Given the description of an element on the screen output the (x, y) to click on. 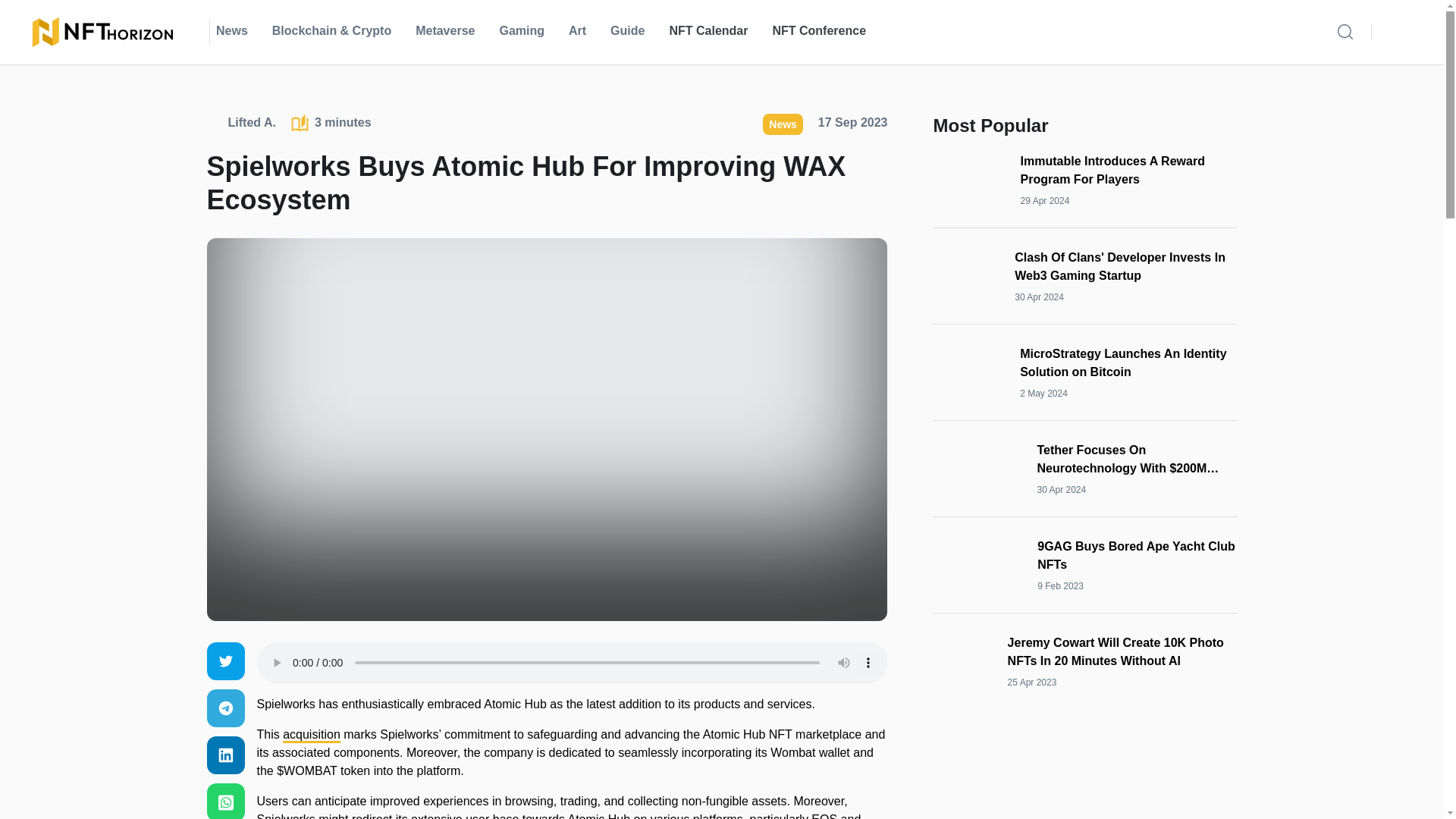
9GAG Buys Bored Ape Yacht Club NFTs (1136, 555)
Immutable Introduces A Reward Program For Players (1129, 170)
acquisition (311, 735)
Clash Of Clans' Developer Invests In Web3 Gaming Startup (1125, 266)
News (782, 124)
NFT Conference (818, 32)
Metaverse (444, 32)
NFT Calendar (708, 32)
MicroStrategy Launches An Identity Solution on Bitcoin (1128, 362)
Lifted A. (240, 124)
